Given the description of an element on the screen output the (x, y) to click on. 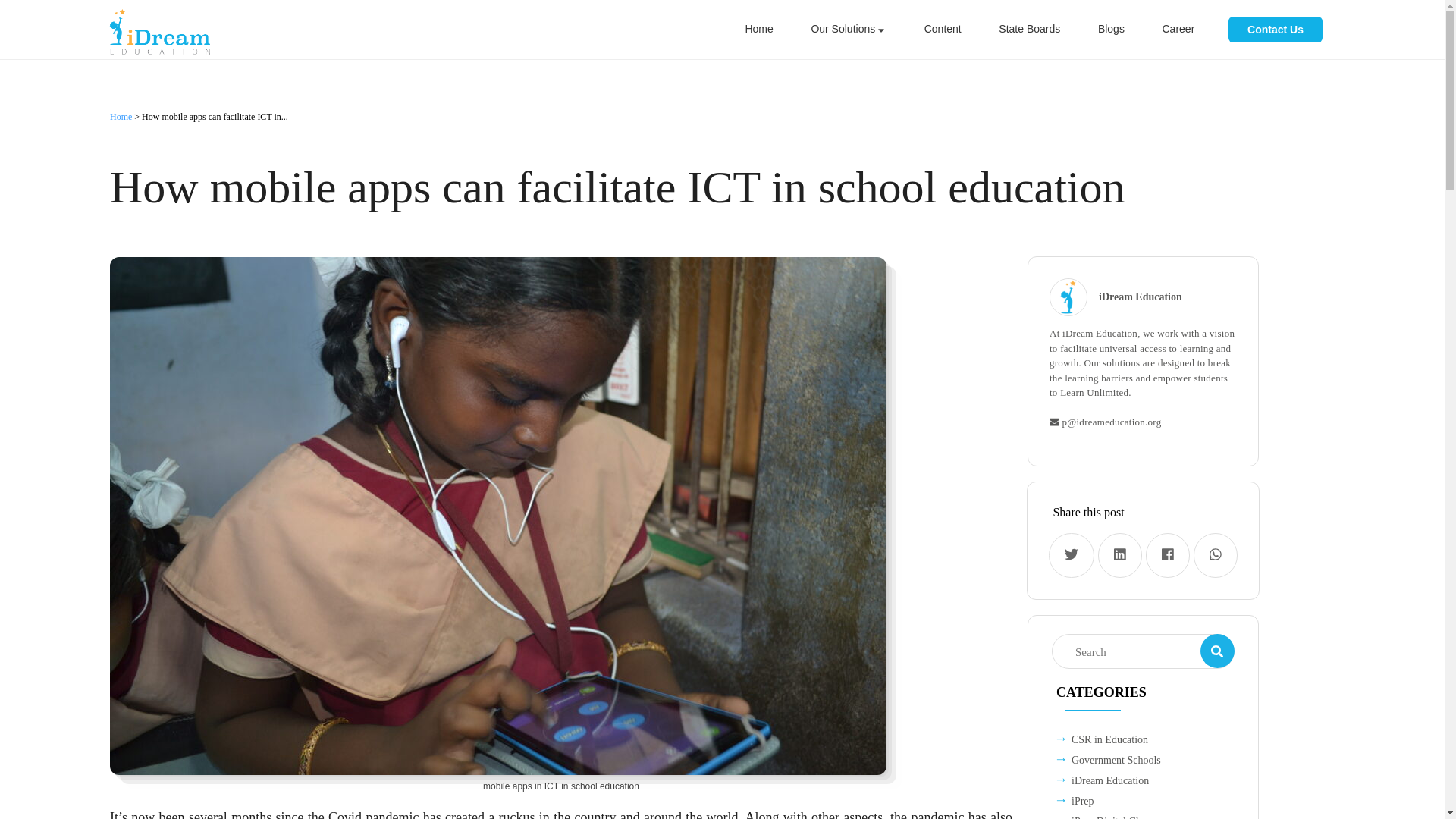
Content (942, 28)
State Boards (1029, 28)
iDream Education (1140, 297)
Home (121, 116)
Blogs (1111, 28)
Our Solutions (846, 28)
Contact Us (1275, 29)
Home (758, 28)
Career (1178, 28)
